Given the description of an element on the screen output the (x, y) to click on. 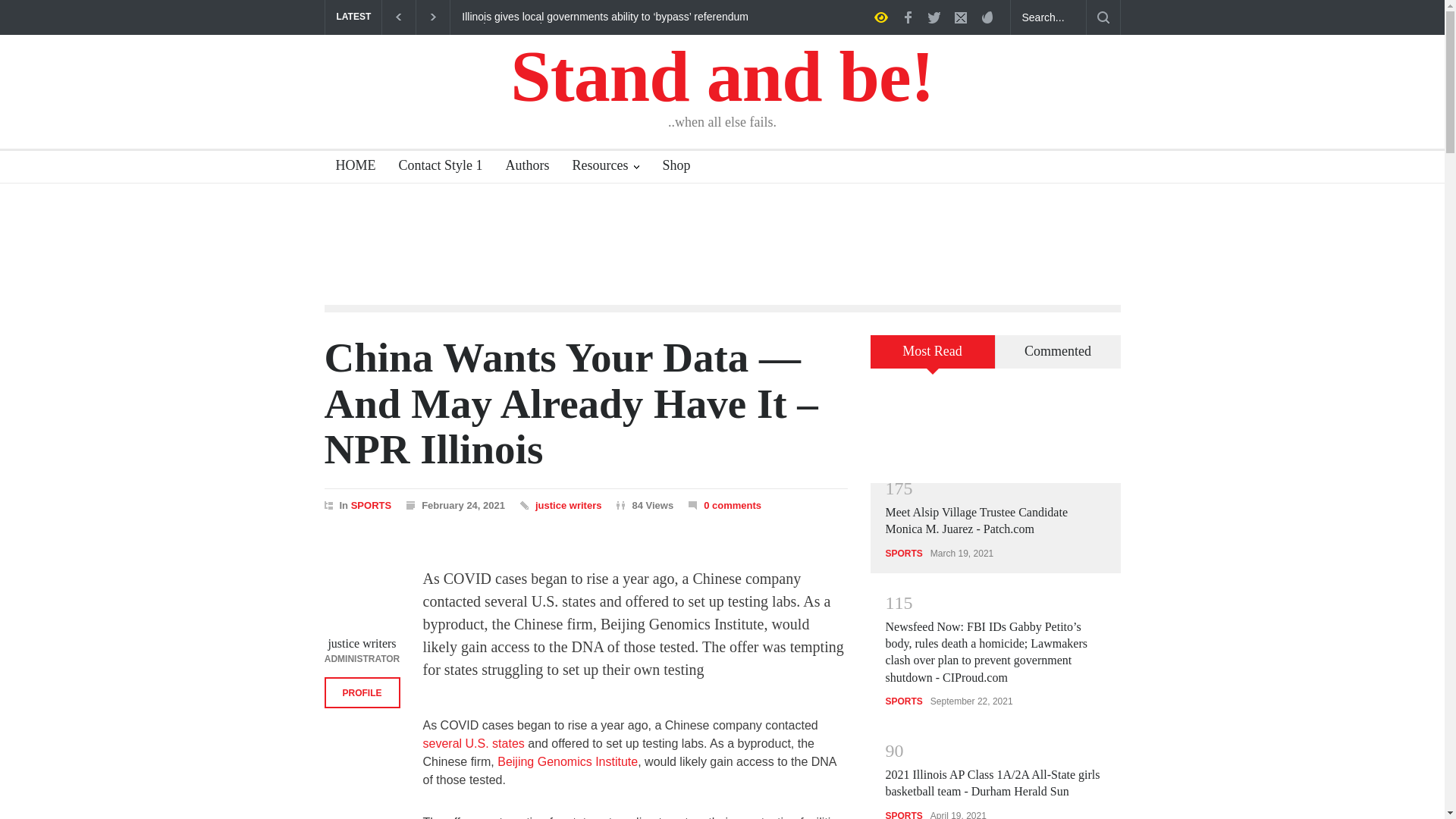
Stand and Be (722, 76)
Search... (1048, 17)
Resources (605, 166)
SPORTS (370, 504)
Authors (522, 166)
Stand and be! (722, 76)
